Given the description of an element on the screen output the (x, y) to click on. 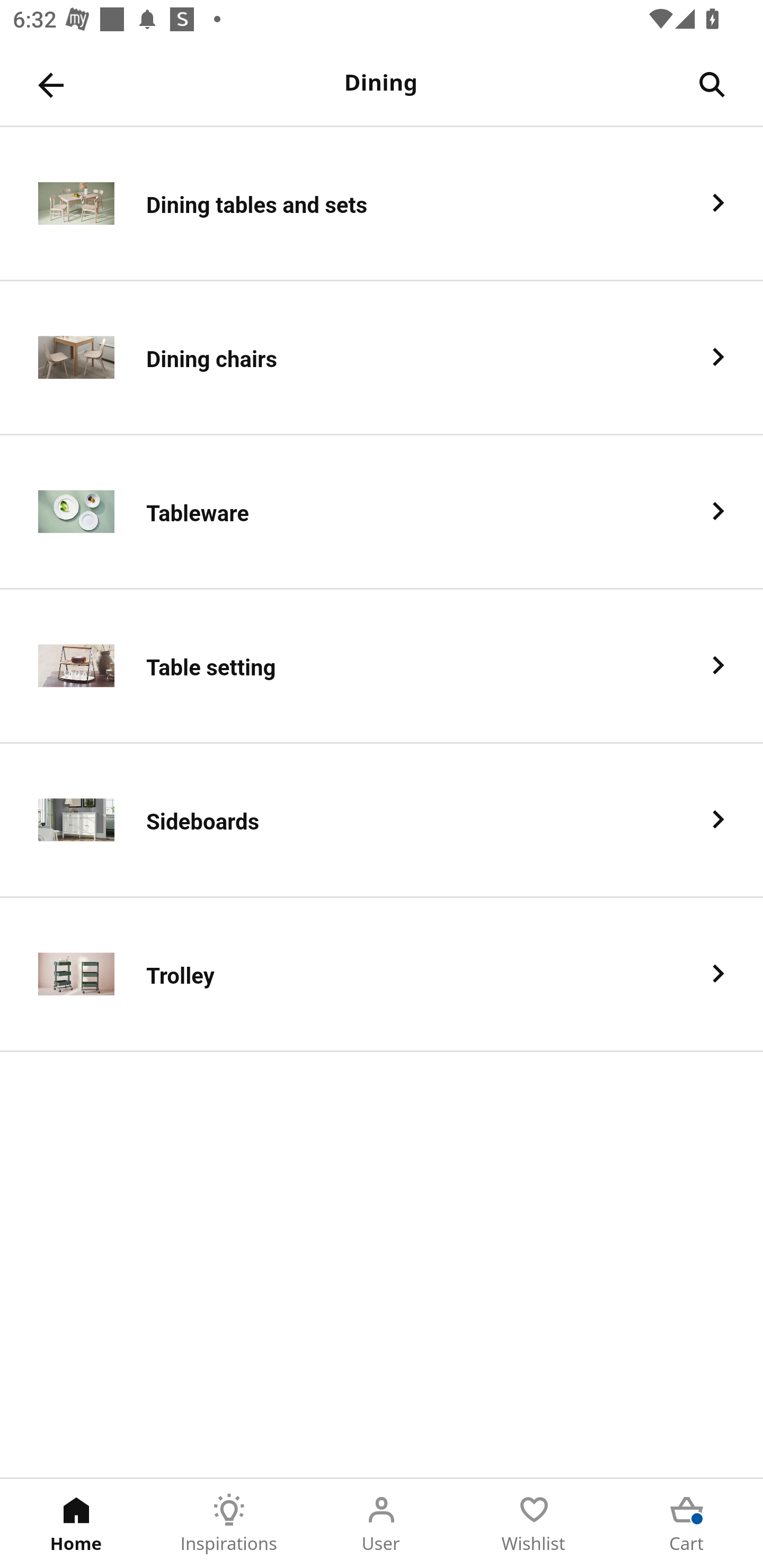
Dining tables and sets (381, 203)
Dining chairs (381, 357)
Tableware (381, 512)
Table setting (381, 666)
Sideboards (381, 820)
Trolley (381, 975)
Home
Tab 1 of 5 (76, 1522)
Inspirations
Tab 2 of 5 (228, 1522)
User
Tab 3 of 5 (381, 1522)
Wishlist
Tab 4 of 5 (533, 1522)
Cart
Tab 5 of 5 (686, 1522)
